Given the description of an element on the screen output the (x, y) to click on. 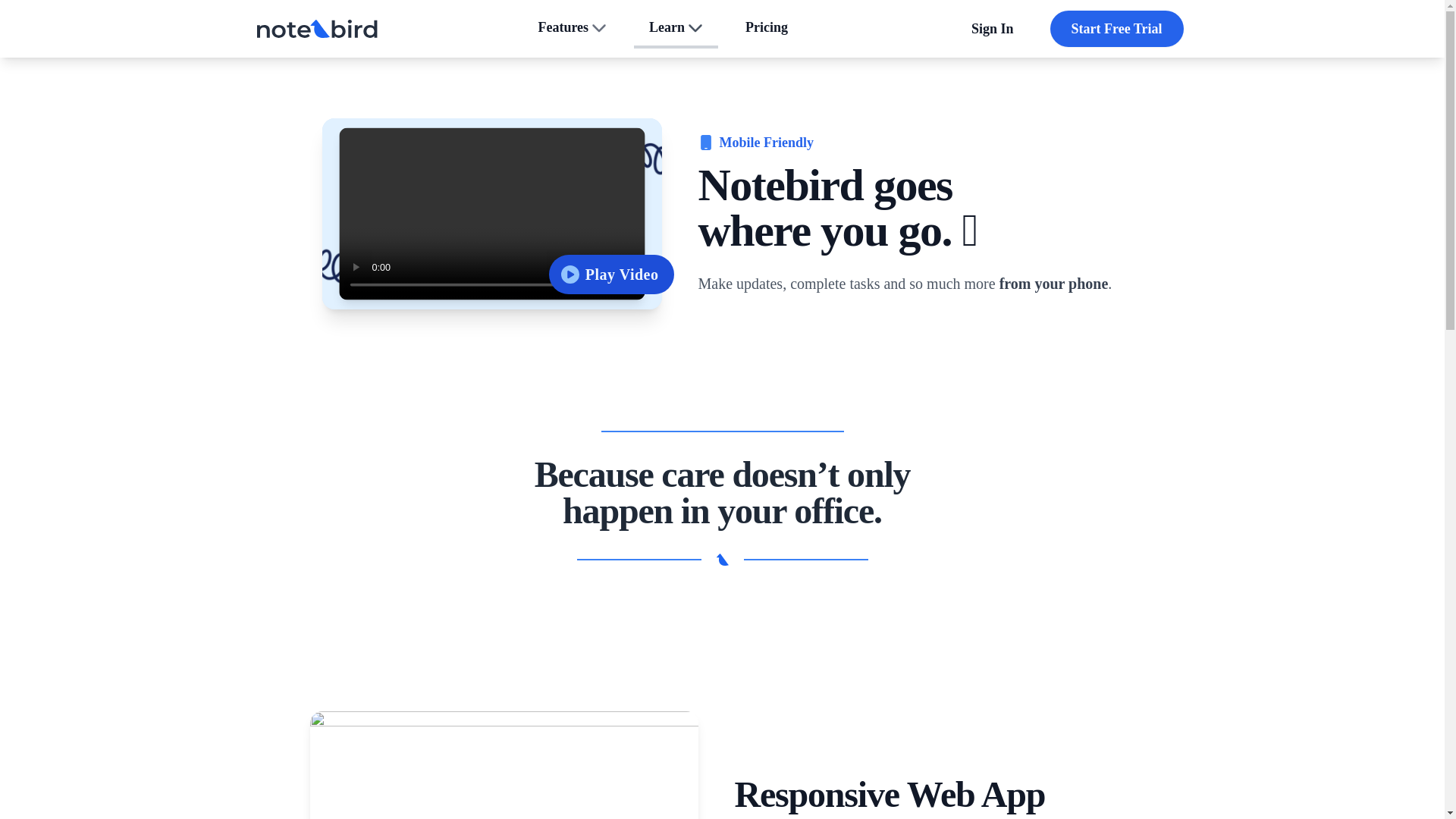
Features (571, 28)
Sign In (491, 213)
Pricing (992, 28)
Learn (766, 28)
Notebird (675, 28)
Start Free Trial (316, 28)
